Given the description of an element on the screen output the (x, y) to click on. 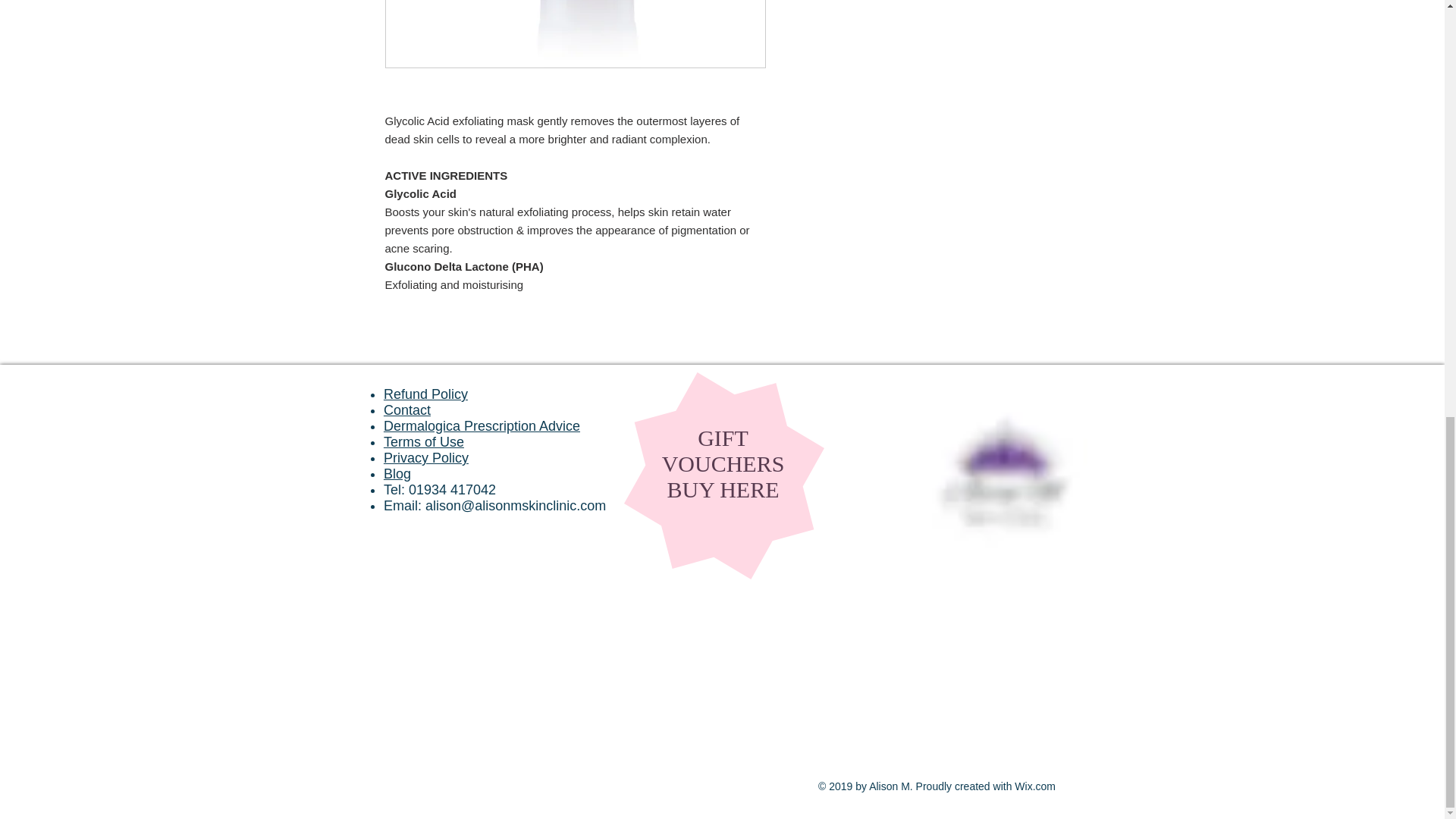
Wix.com (1034, 786)
Blog (397, 473)
Privacy Policy (426, 458)
Dermalogica Prescription Advice (481, 426)
Refund Policy (425, 394)
Terms of Use (424, 441)
Contact (407, 409)
